Given the description of an element on the screen output the (x, y) to click on. 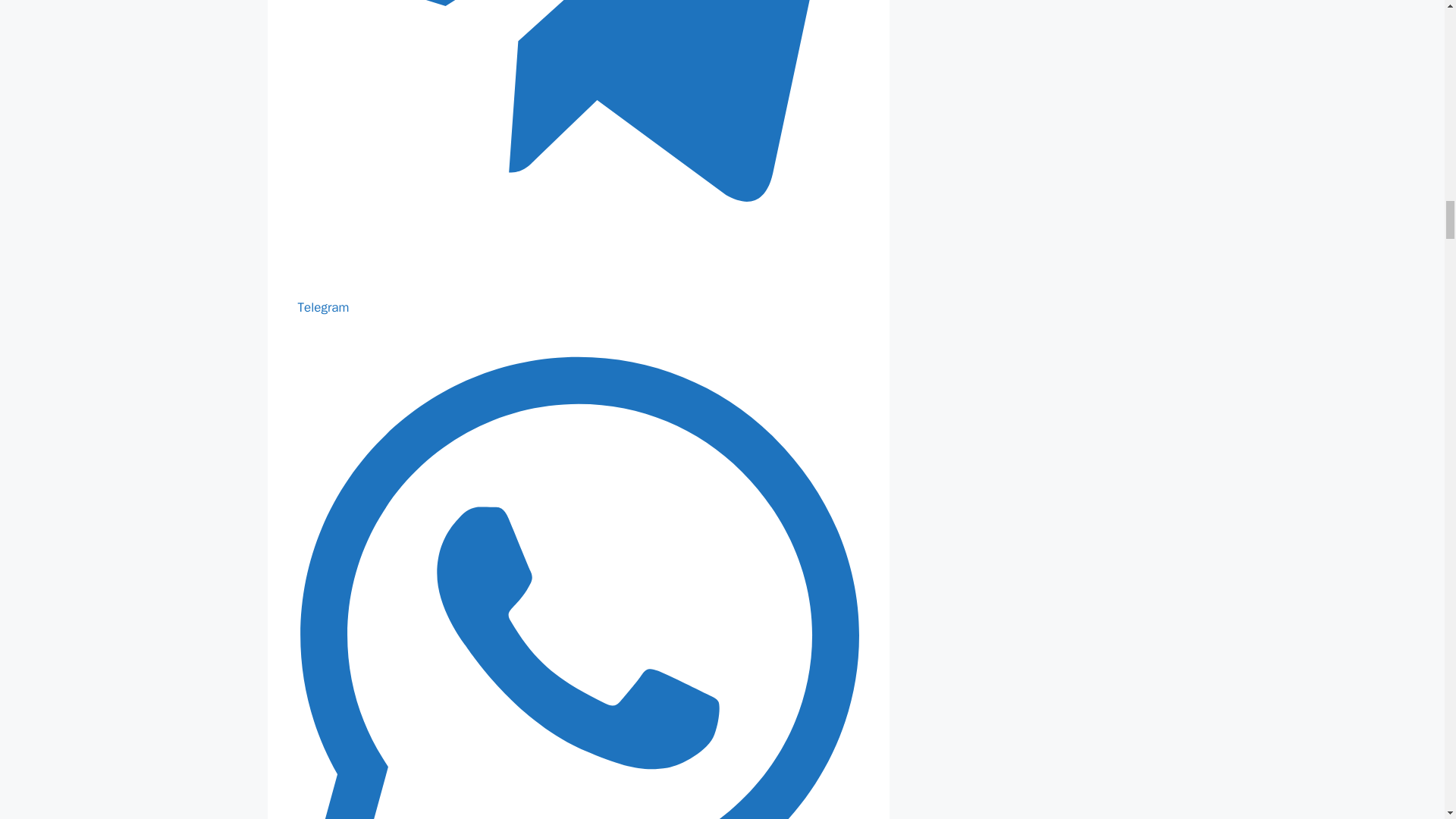
Telegram (578, 297)
